Given the description of an element on the screen output the (x, y) to click on. 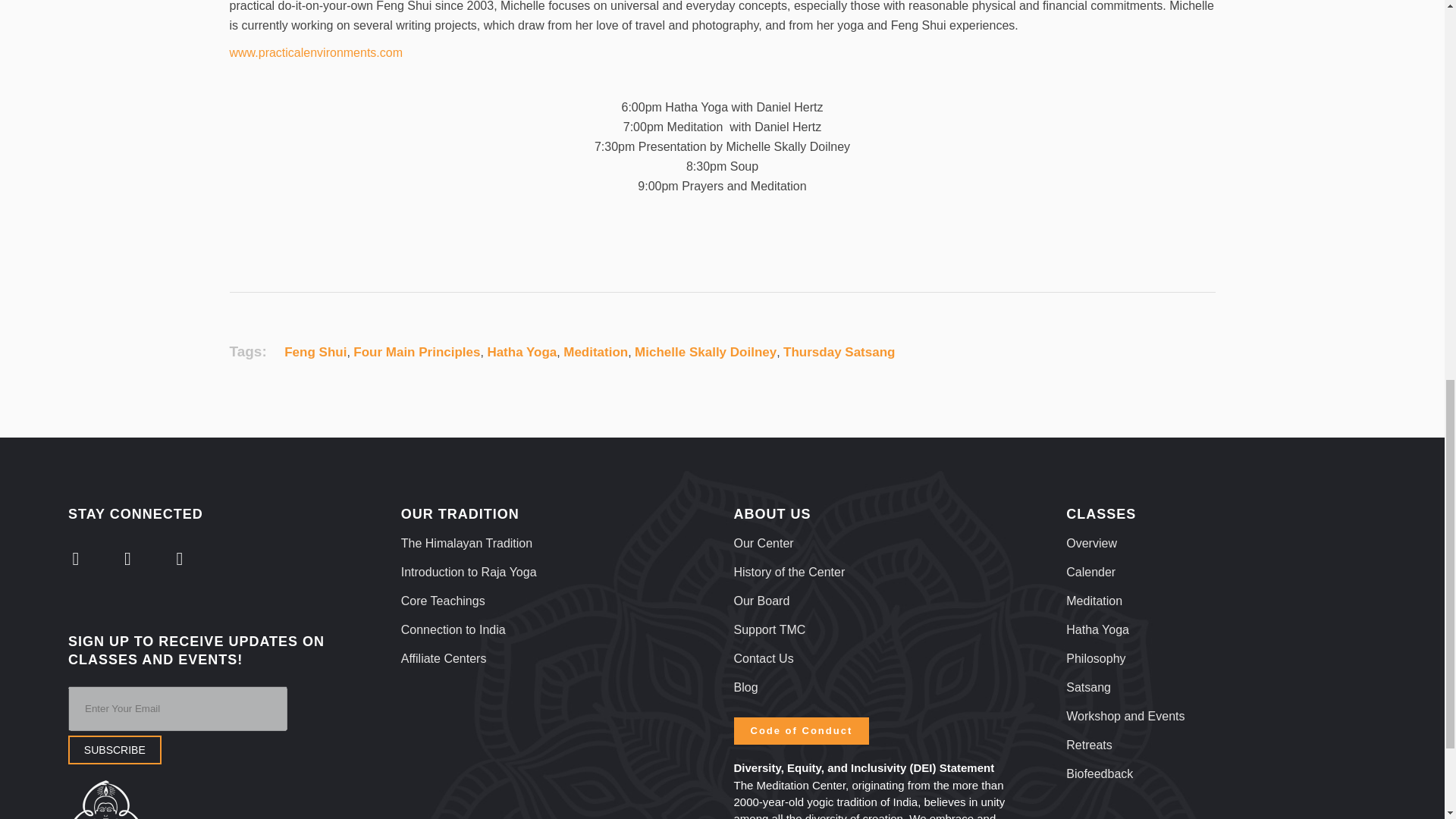
SUBSCRIBE (114, 749)
Default Label (179, 558)
Twitter (75, 558)
Facebook (127, 558)
